Given the description of an element on the screen output the (x, y) to click on. 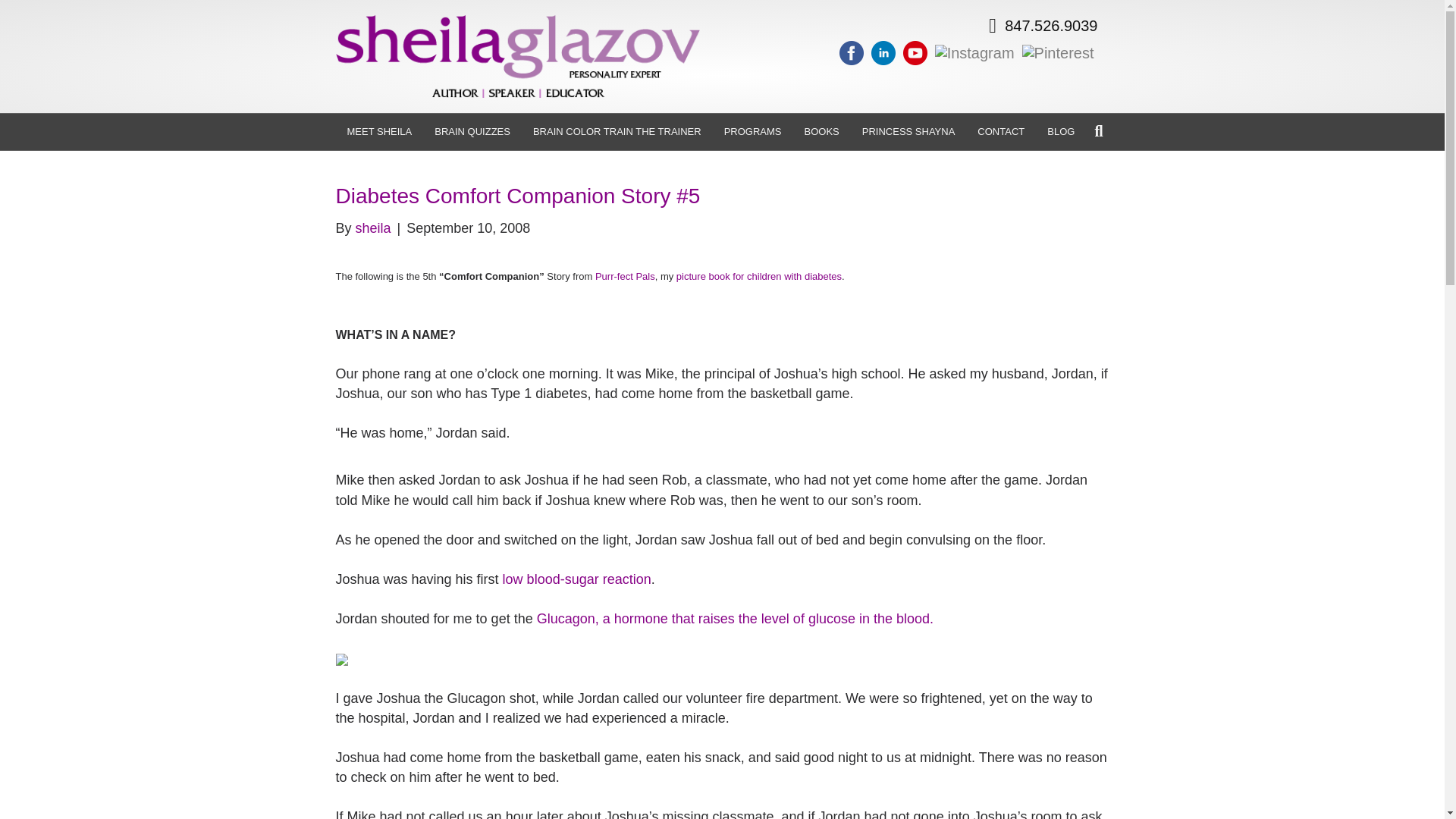
LinkedIn (883, 51)
YouTube (914, 52)
Instagram (974, 51)
BRAIN COLOR TRAIN THE TRAINER (617, 131)
Facebook (851, 52)
LinkedIn (882, 52)
Facebook (851, 51)
PROGRAMS (753, 131)
MEET SHEILA (378, 131)
BRAIN QUIZZES (472, 131)
